Given the description of an element on the screen output the (x, y) to click on. 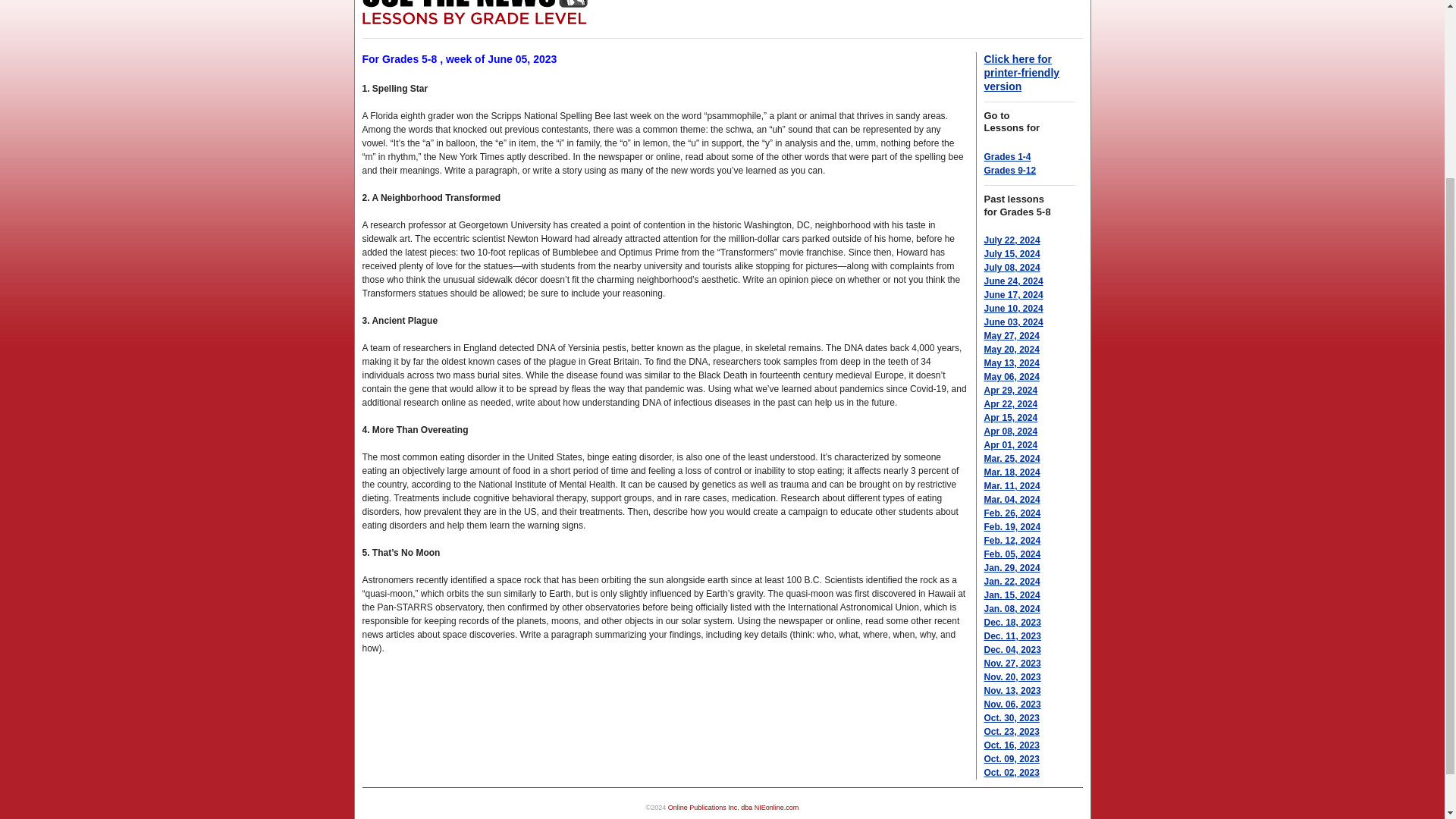
June 03, 2024 (1013, 321)
Grades 9-12 (1010, 170)
Apr 29, 2024 (1011, 389)
Grades 1-4 (1007, 156)
June 17, 2024 (1013, 294)
June 10, 2024 (1013, 308)
June 24, 2024 (1013, 281)
May 06, 2024 (1011, 376)
May 20, 2024 (1011, 348)
May 27, 2024 (1011, 335)
July 22, 2024 (1012, 240)
July 15, 2024 (1012, 253)
May 13, 2024 (1011, 362)
Apr 22, 2024 (1011, 403)
July 08, 2024 (1012, 267)
